Given the description of an element on the screen output the (x, y) to click on. 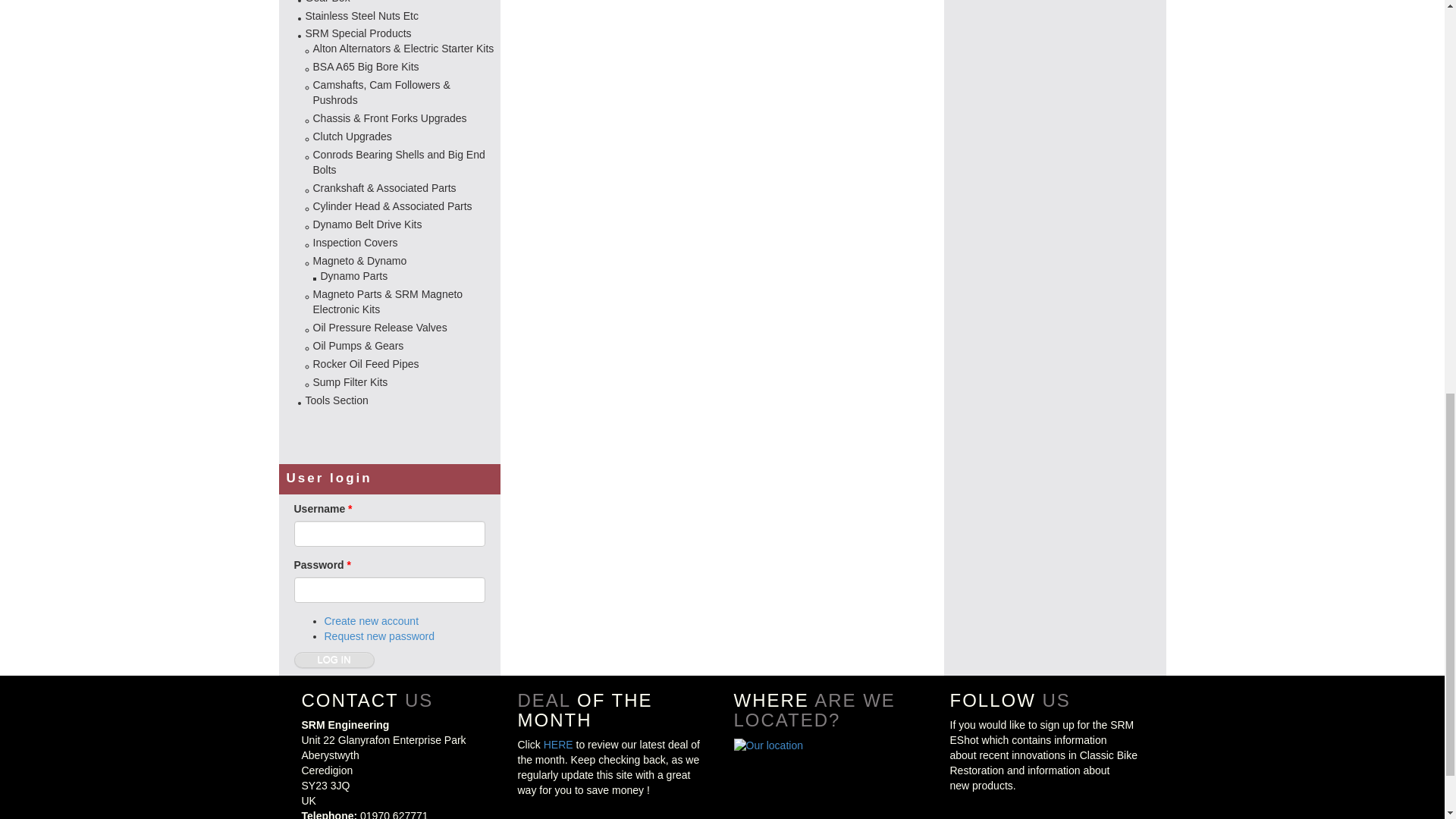
Request new password via e-mail. (379, 635)
Create a new user account. (371, 621)
Clutch Upgrades (352, 136)
Stainless Steel Nuts Etc (360, 15)
Gear Box (326, 2)
SRM Special Products (357, 33)
BSA A65 Big Bore Kits (366, 66)
